Given the description of an element on the screen output the (x, y) to click on. 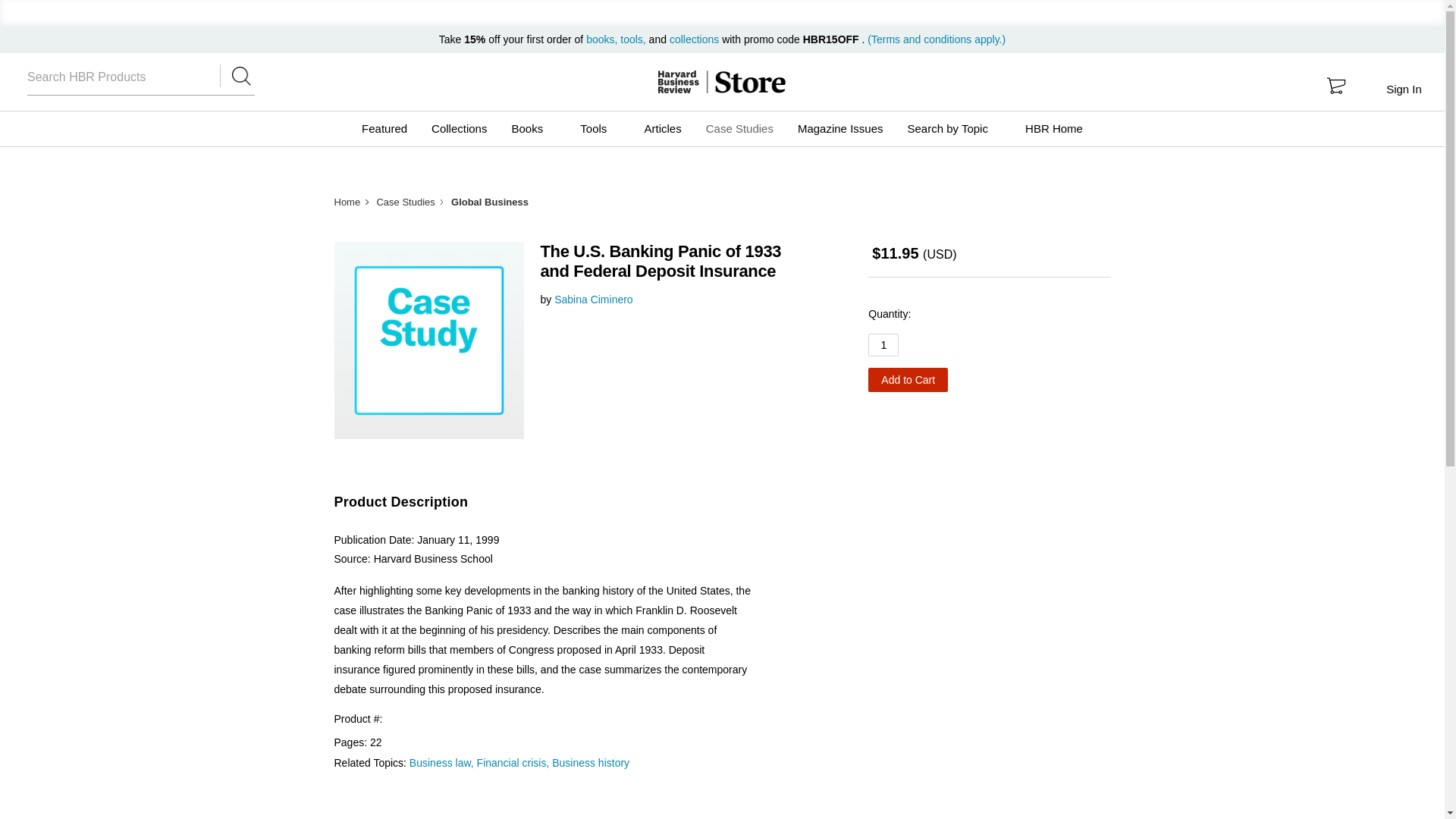
collections (694, 39)
HBR.ORG - Prod (678, 81)
tools, (632, 39)
books, (603, 39)
Featured (384, 128)
Sign In (1403, 88)
Tools (599, 128)
Collections (459, 128)
Books (533, 128)
Add to Cart (907, 379)
